Given the description of an element on the screen output the (x, y) to click on. 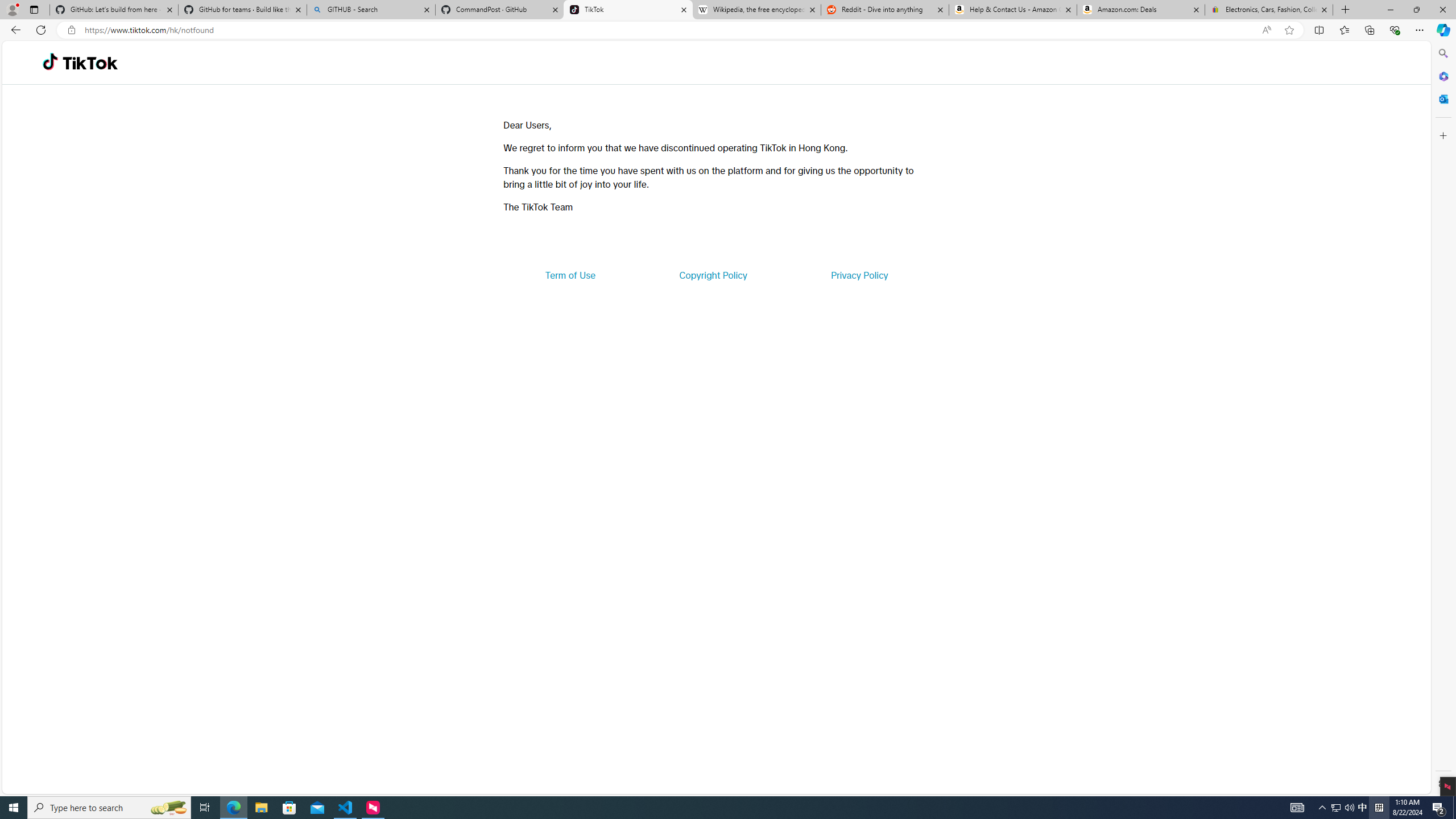
Reddit - Dive into anything (884, 9)
Privacy Policy (858, 274)
Microsoft 365 (1442, 76)
TikTok (628, 9)
Customize (1442, 135)
Copyright Policy (712, 274)
GITHUB - Search (370, 9)
